Given the description of an element on the screen output the (x, y) to click on. 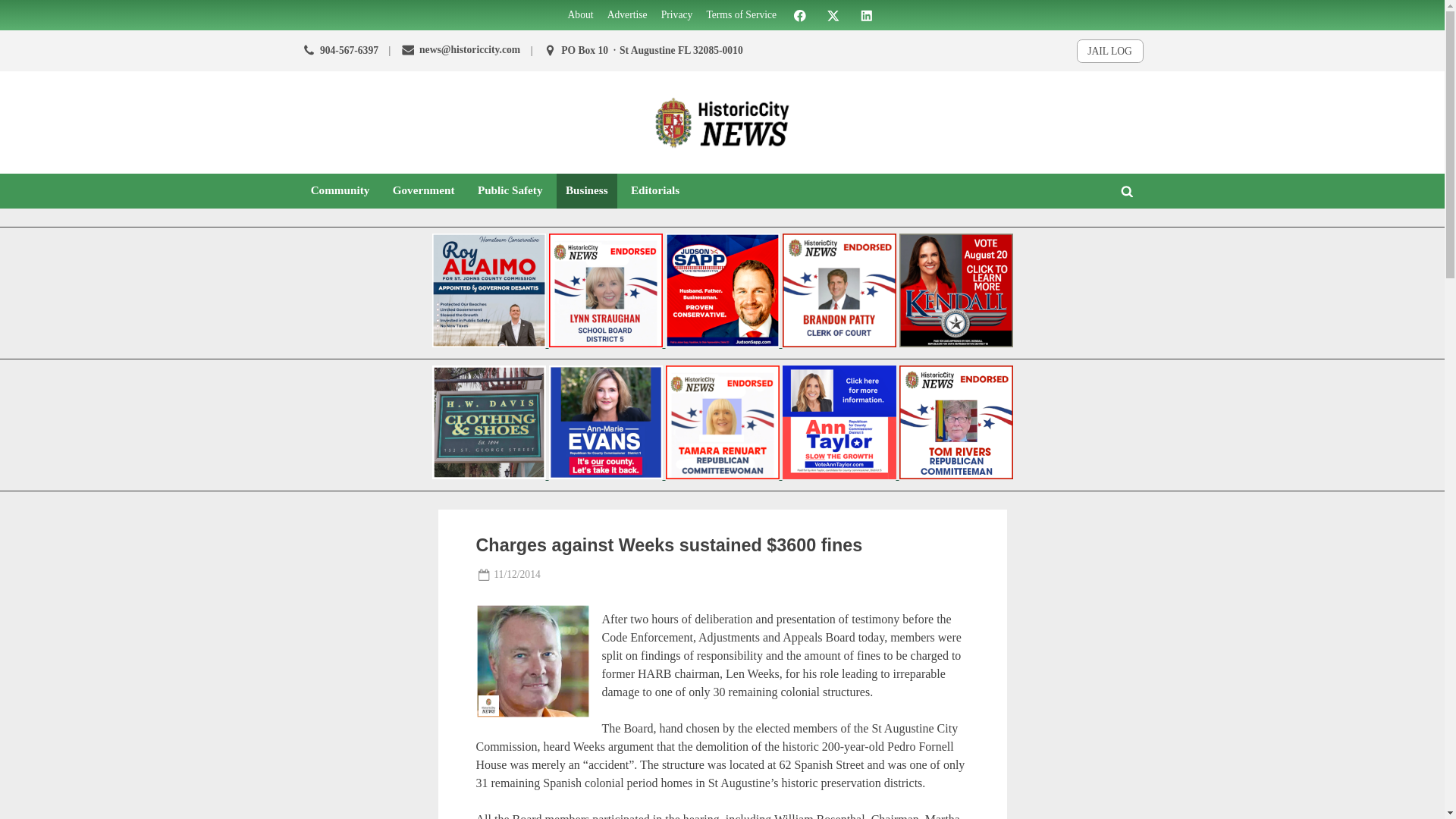
About (580, 15)
Community (339, 190)
Privacy (677, 15)
Public Safety (509, 190)
LinkedIn (866, 13)
Business (586, 190)
Terms of Service (741, 15)
Government (424, 190)
HISTORIC CITY NEWS (818, 163)
Facebook (799, 13)
